Given the description of an element on the screen output the (x, y) to click on. 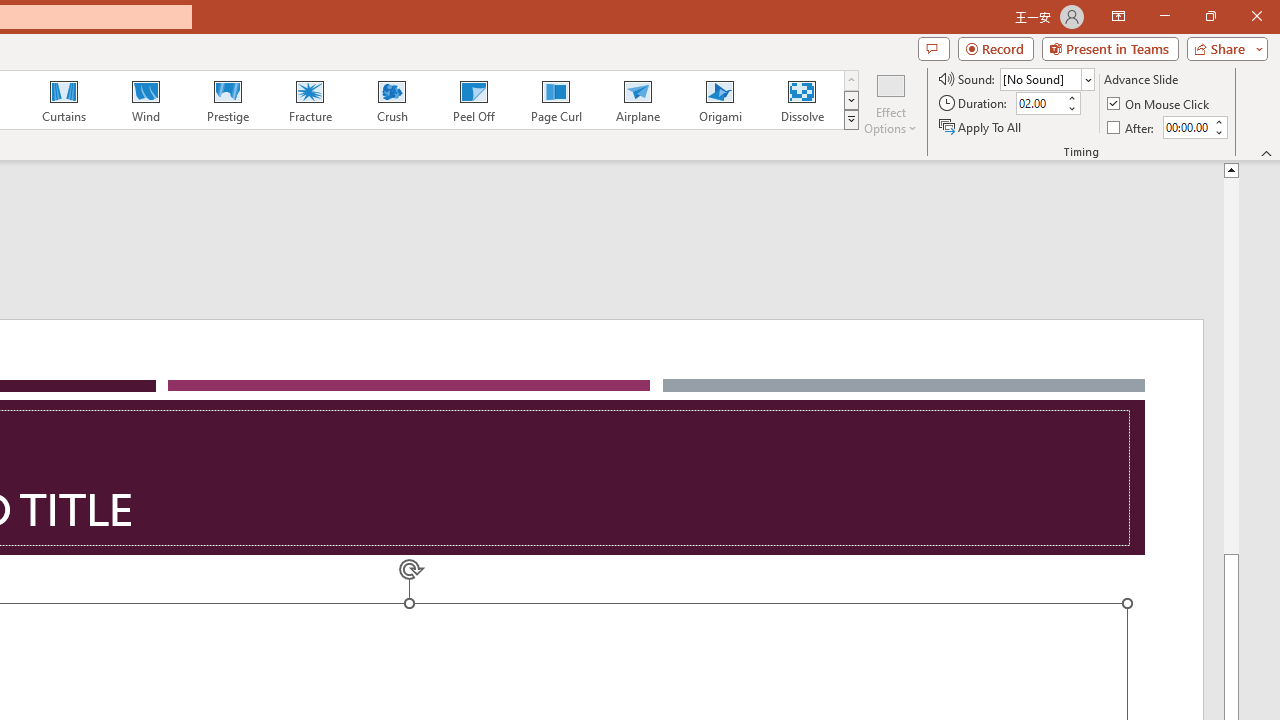
Curtains (63, 100)
On Mouse Click (1159, 103)
